Given the description of an element on the screen output the (x, y) to click on. 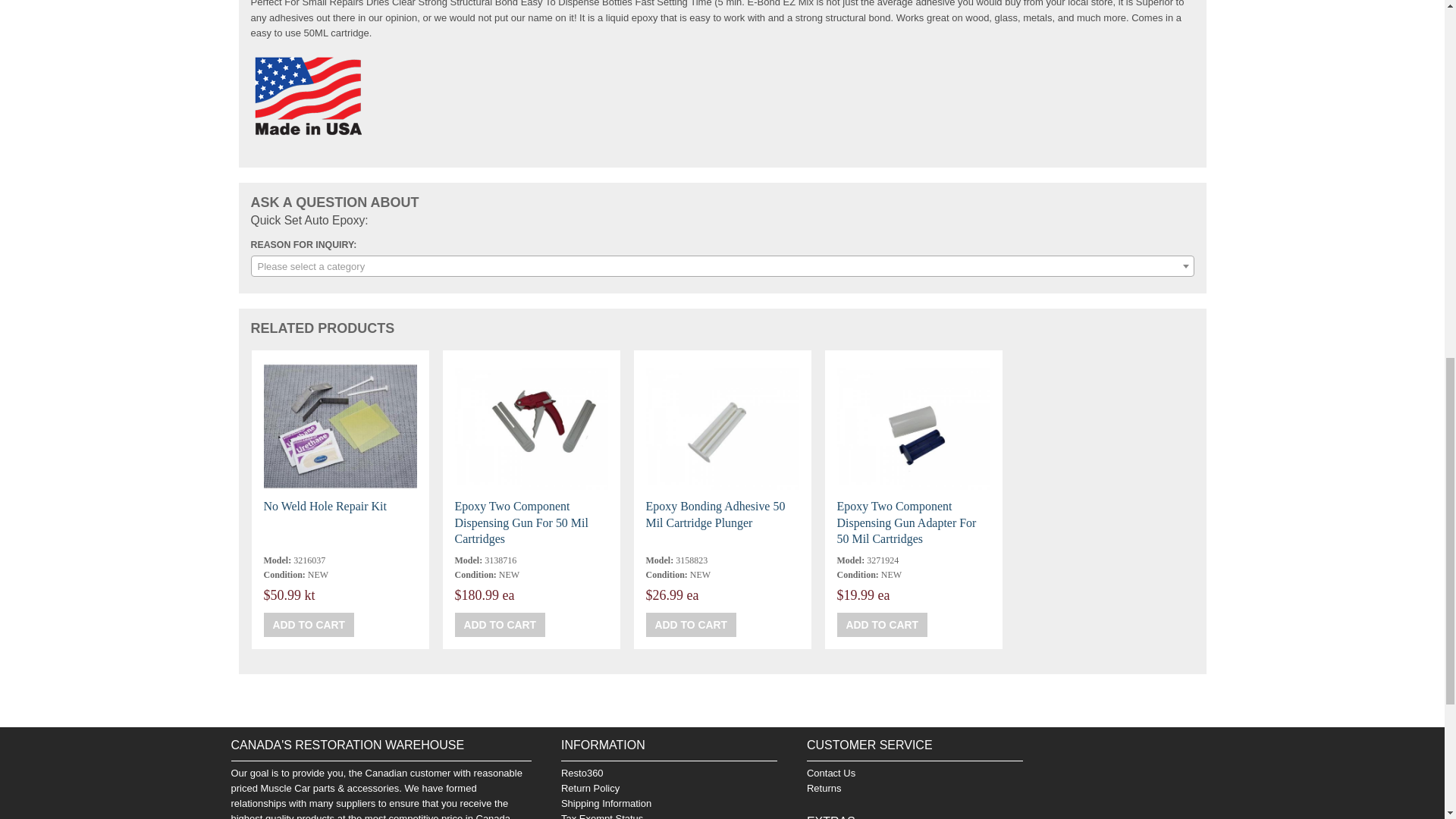
Add to Cart (500, 624)
Add to Cart (691, 624)
Add to Cart (882, 624)
Add to Cart (309, 624)
